Given the description of an element on the screen output the (x, y) to click on. 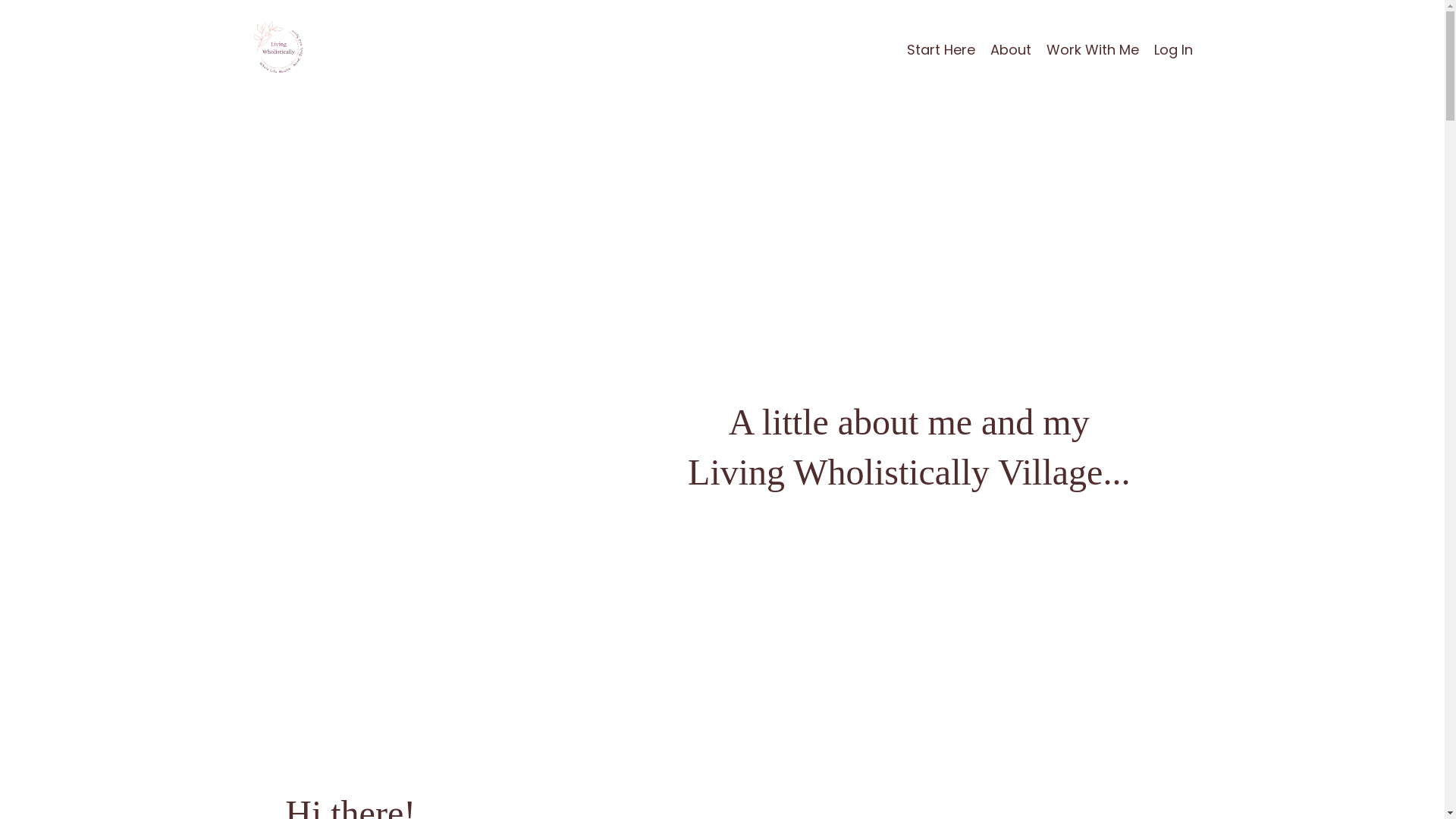
Start Here Element type: text (940, 50)
Log In Element type: text (1173, 49)
About Element type: text (1010, 50)
Work With Me Element type: text (1092, 50)
